Given the description of an element on the screen output the (x, y) to click on. 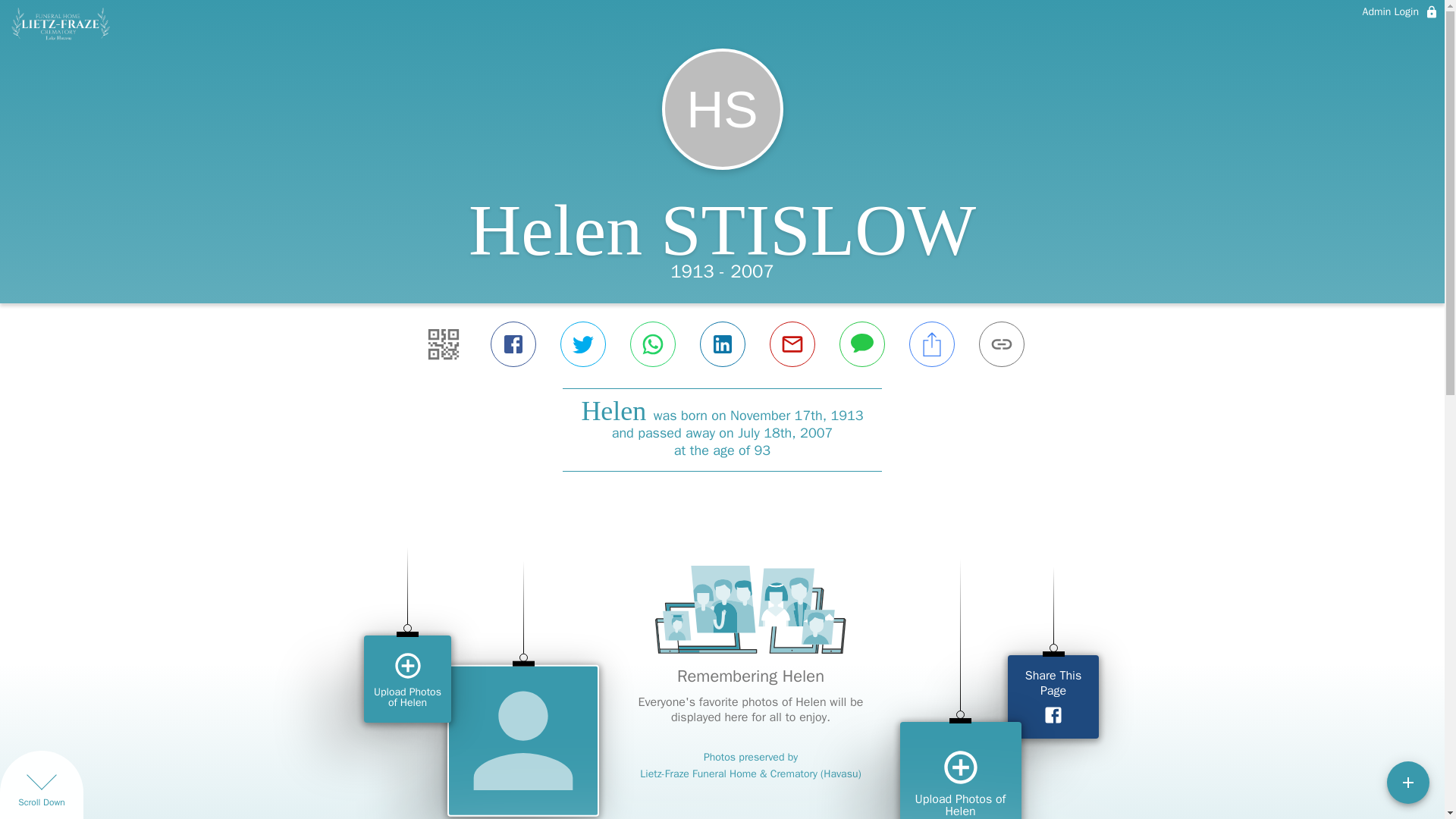
Upload Photos of Helen (959, 770)
HS (722, 108)
Upload Photos of Helen (407, 678)
Share This Page (1053, 696)
